Given the description of an element on the screen output the (x, y) to click on. 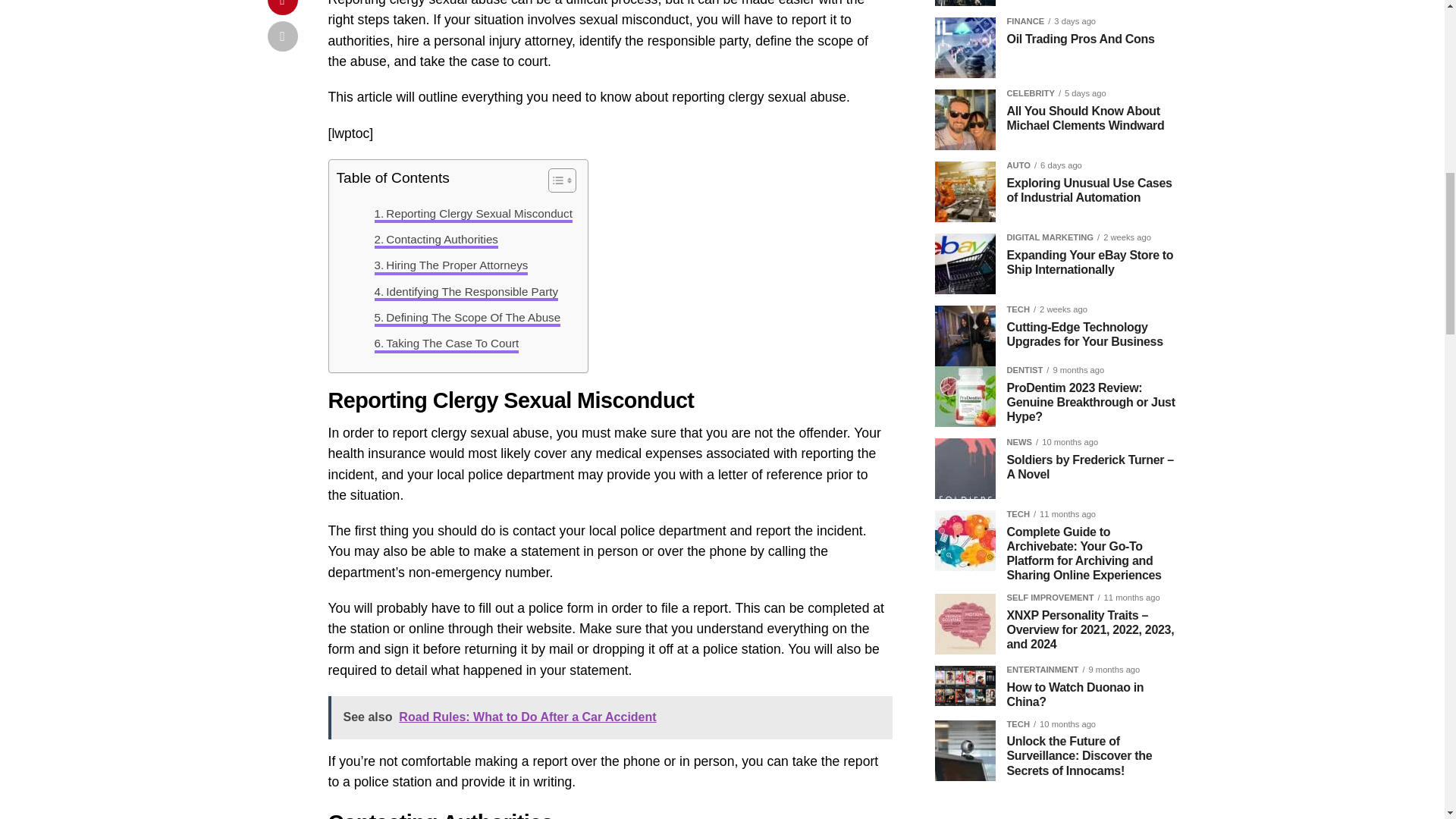
Defining The Scope Of The Abuse (467, 317)
Hiring The Proper Attorneys (451, 265)
Taking The Case To Court (446, 343)
Identifying The Responsible Party (466, 291)
Reporting Clergy Sexual Misconduct (473, 213)
Contacting Authorities (435, 239)
